Given the description of an element on the screen output the (x, y) to click on. 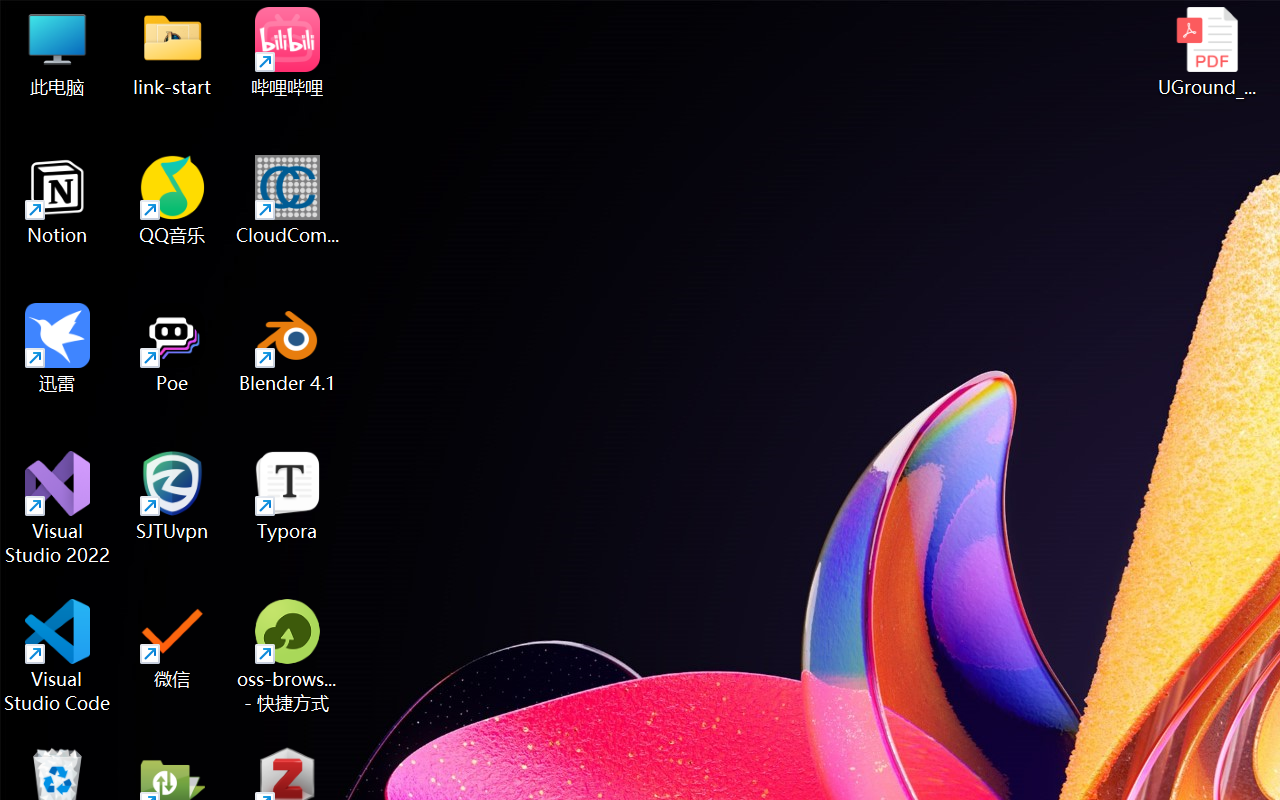
SJTUvpn (172, 496)
Blender 4.1 (287, 348)
Visual Studio Code (57, 656)
UGround_paper.pdf (1206, 52)
CloudCompare (287, 200)
Typora (287, 496)
Visual Studio 2022 (57, 508)
